Given the description of an element on the screen output the (x, y) to click on. 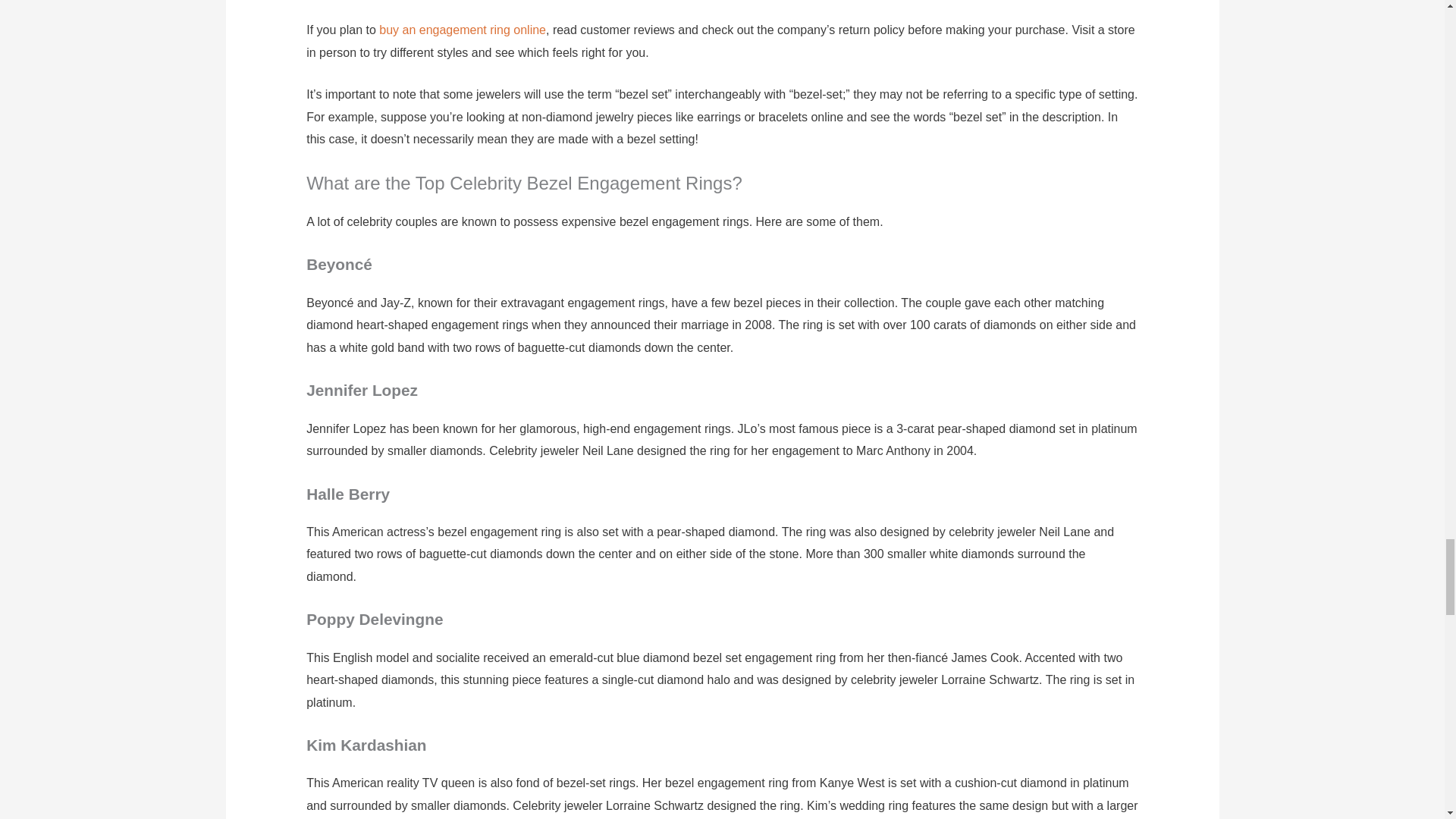
buy an engagement ring online (462, 29)
